Given the description of an element on the screen output the (x, y) to click on. 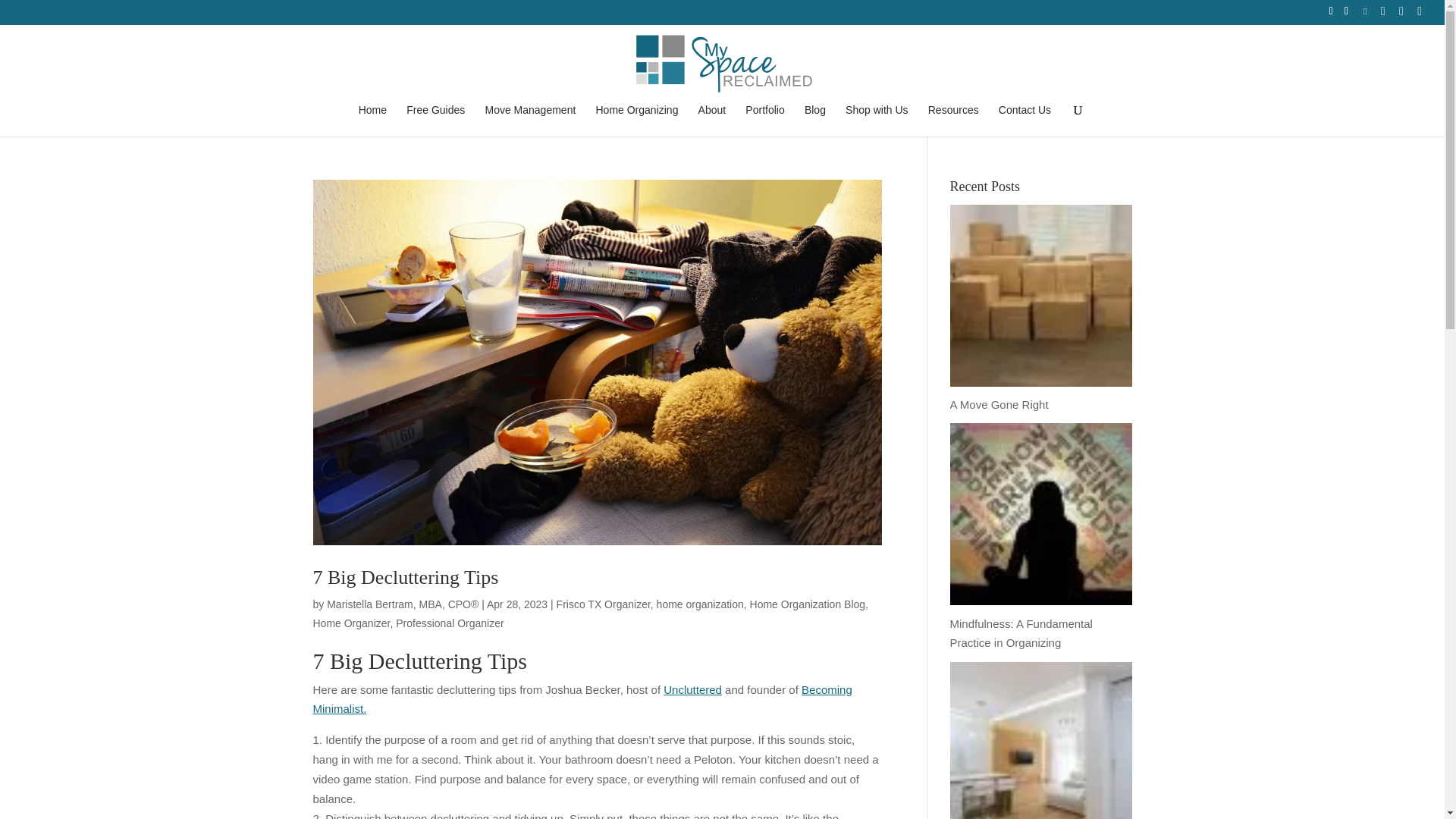
About (712, 120)
Professional Organizer (449, 623)
home organization (700, 604)
Free Guides (435, 120)
Home Organizing (636, 120)
Contact Us (1024, 120)
Home (372, 120)
Shop with Us (876, 120)
Move Management (529, 120)
Portfolio (764, 120)
Frisco TX Organizer (603, 604)
Uncluttered (692, 689)
Resources (953, 120)
Blog (815, 120)
Home Organization Blog (807, 604)
